Given the description of an element on the screen output the (x, y) to click on. 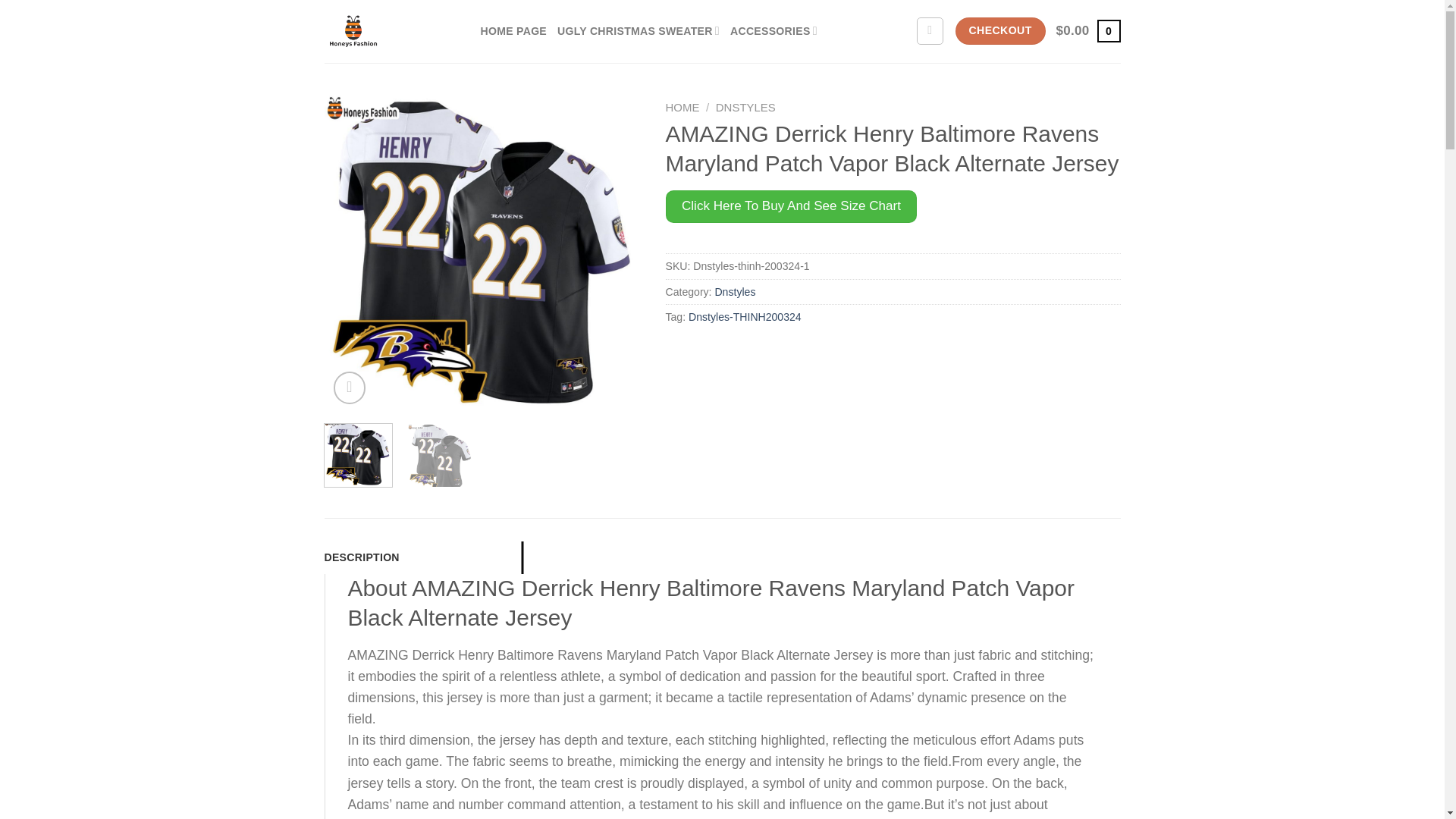
Zoom (349, 387)
Honeysfashion - Find what you need here (391, 31)
Dnstyles-THINH200324 (745, 316)
ACCESSORIES (773, 31)
Click Here To Buy And See Size Chart (791, 206)
HOME (682, 106)
UGLY CHRISTMAS SWEATER (638, 31)
Cart (1089, 30)
HOME PAGE (513, 31)
